Given the description of an element on the screen output the (x, y) to click on. 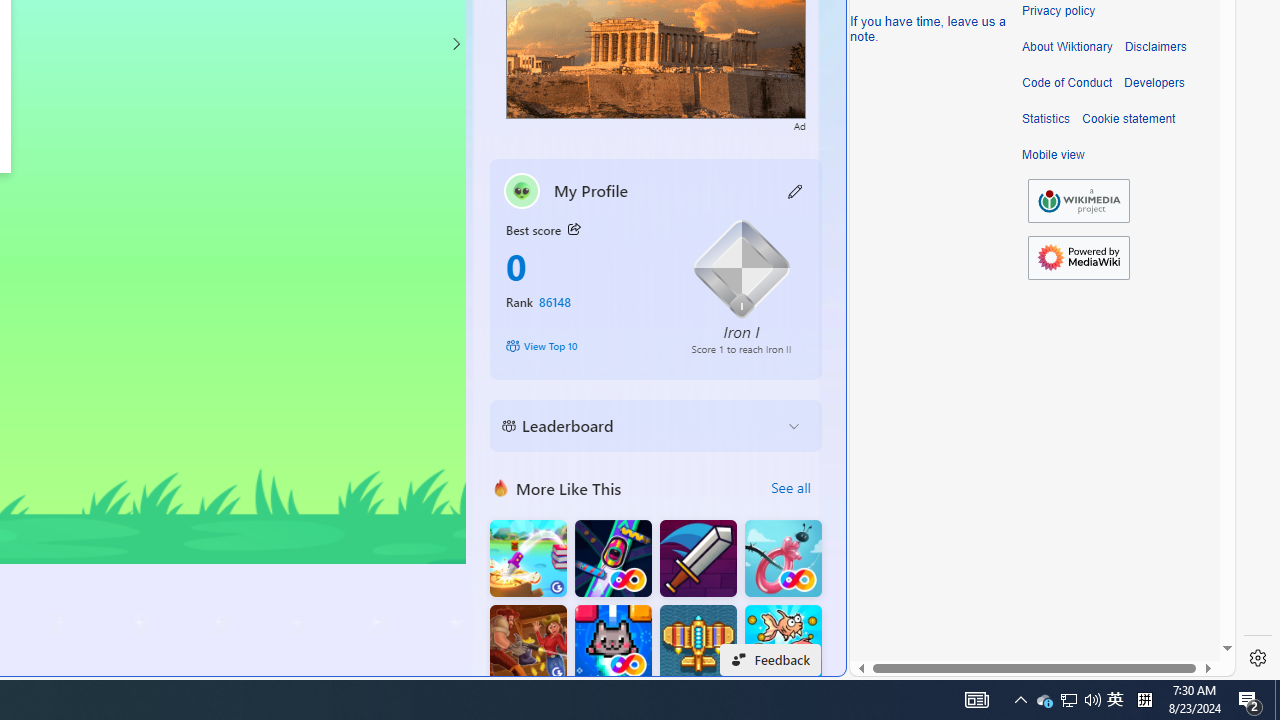
Developers (1154, 83)
Mobile view (1053, 155)
Powered by MediaWiki (1078, 257)
Class: control (455, 43)
Cookie statement (1128, 119)
Code of Conduct (1067, 83)
Kitten Force FRVR (612, 643)
Wikimedia Foundation (1078, 200)
Developers (1154, 83)
Class: button (574, 229)
Actions for this site (1129, 306)
Wikimedia Foundation (1078, 201)
View Top 10 (584, 345)
